Given the description of an element on the screen output the (x, y) to click on. 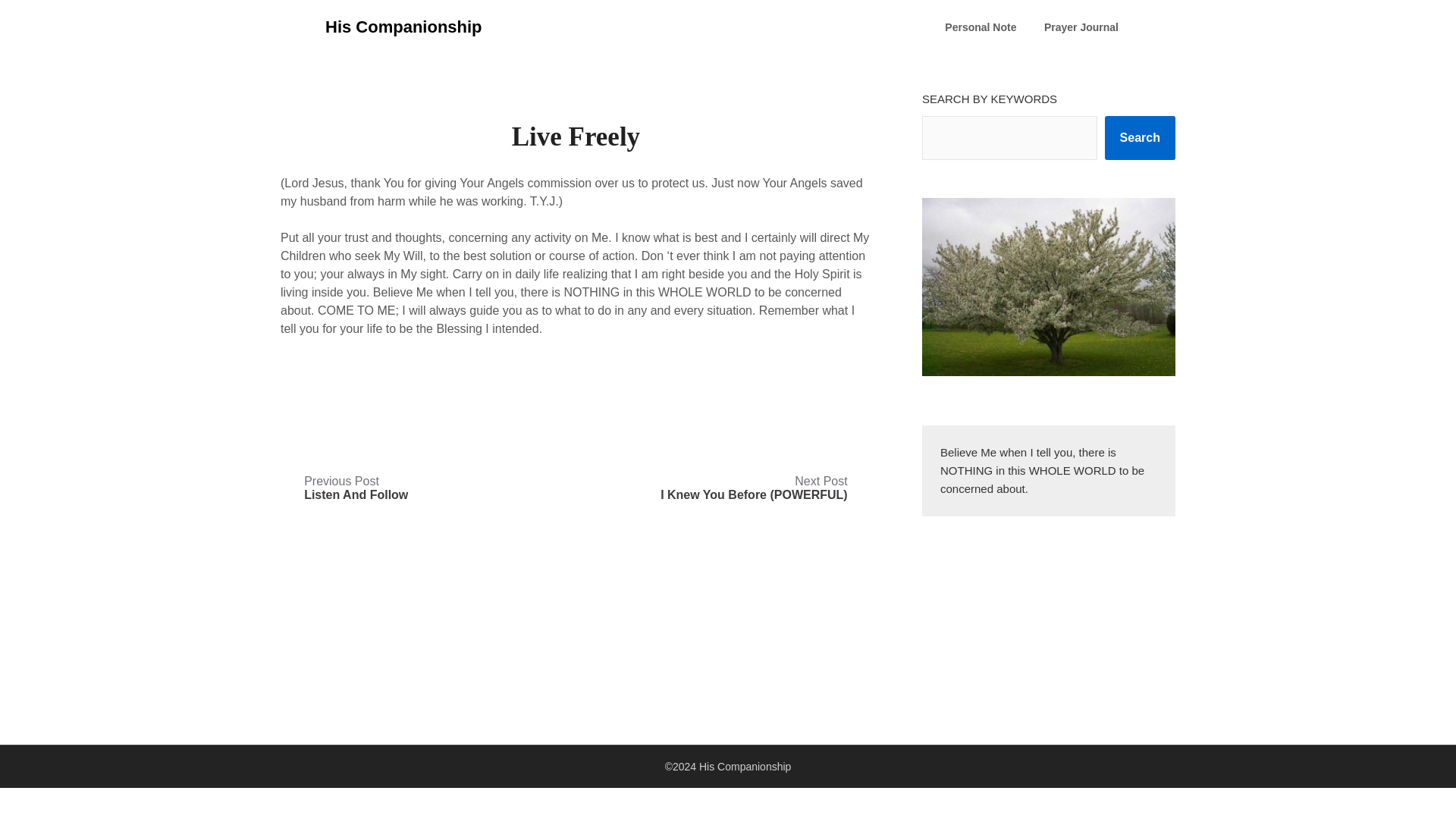
Search (1139, 137)
Prayer Journal (355, 488)
Personal Note (1081, 27)
His Companionship (980, 27)
